Given the description of an element on the screen output the (x, y) to click on. 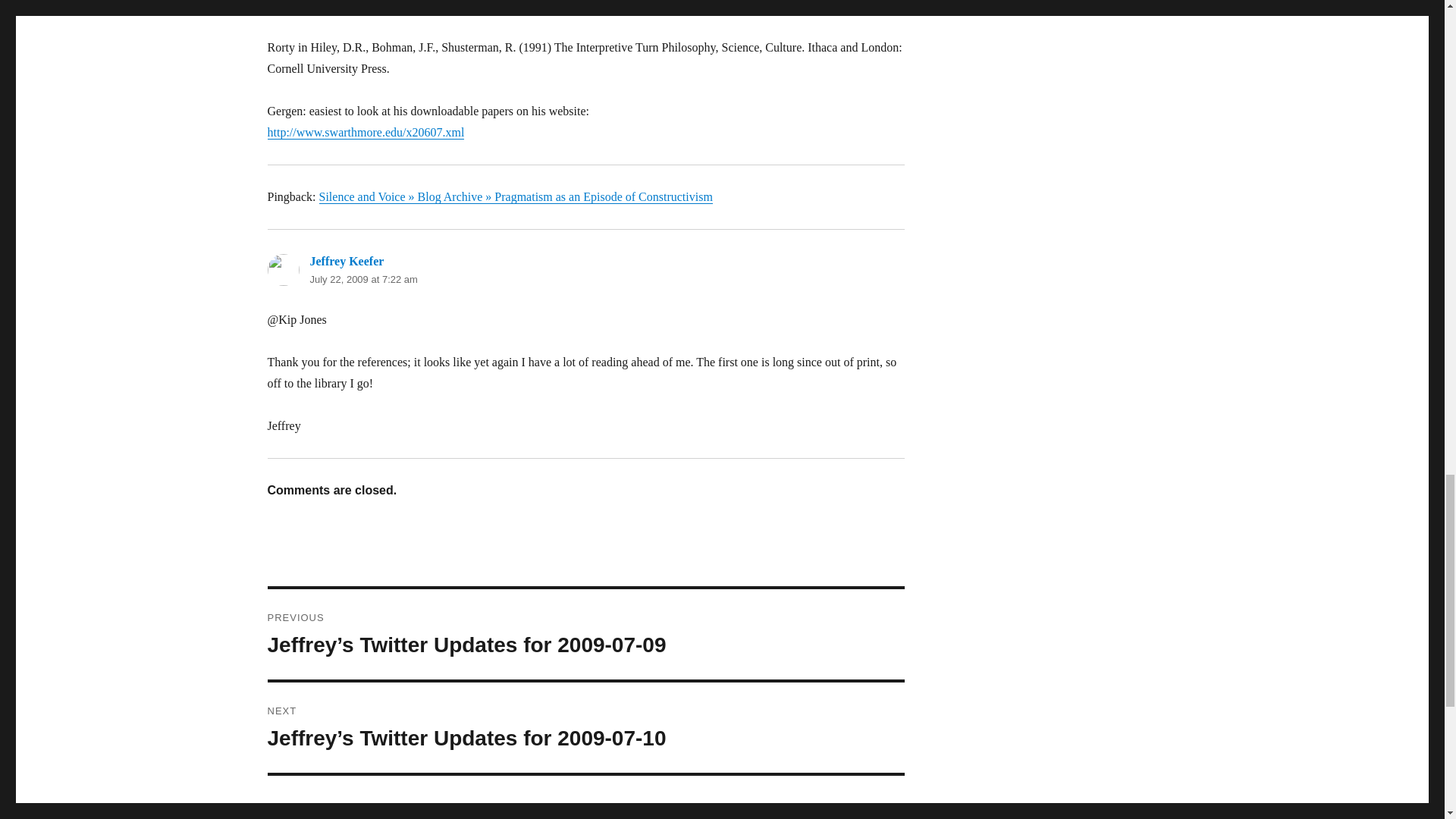
July 11, 2009 at 11:50 am (365, 7)
July 22, 2009 at 7:22 am (362, 279)
Jeffrey Keefer (346, 260)
